Given the description of an element on the screen output the (x, y) to click on. 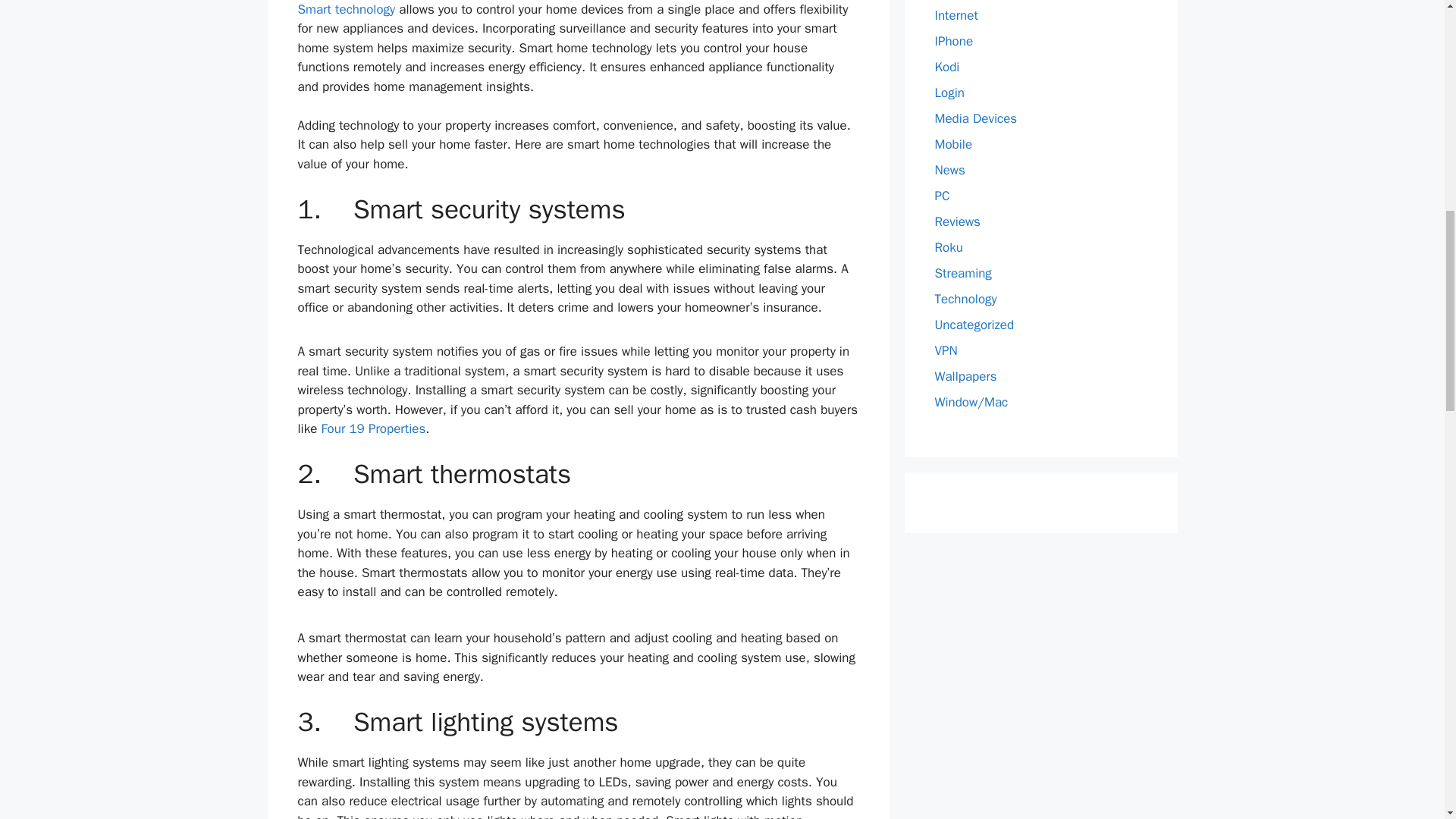
Smart technology (345, 9)
Four 19 Properties (372, 428)
